Given the description of an element on the screen output the (x, y) to click on. 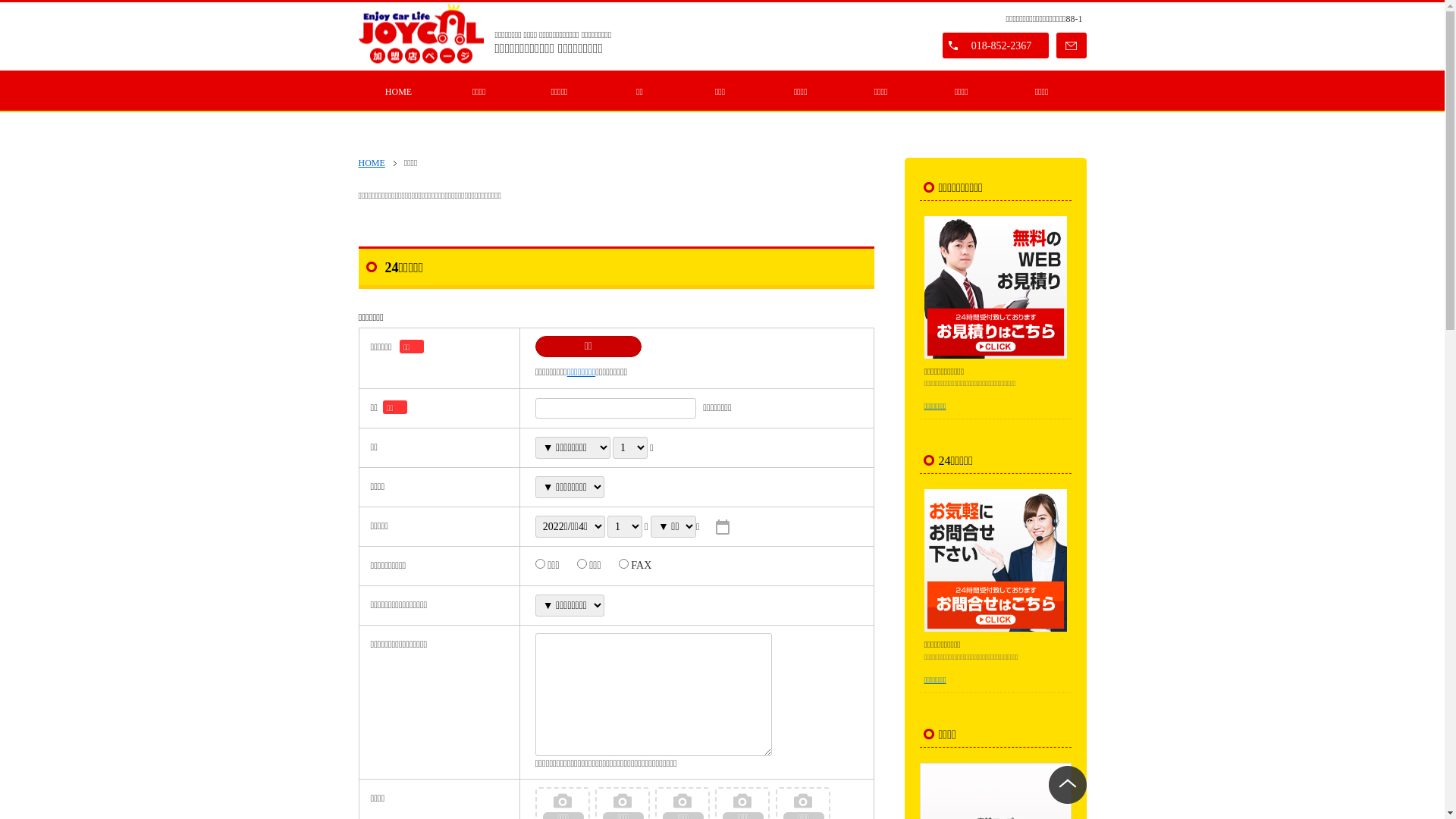
HOME Element type: text (397, 91)
HOME Element type: text (376, 163)
018-852-2367 Element type: text (994, 45)
